Given the description of an element on the screen output the (x, y) to click on. 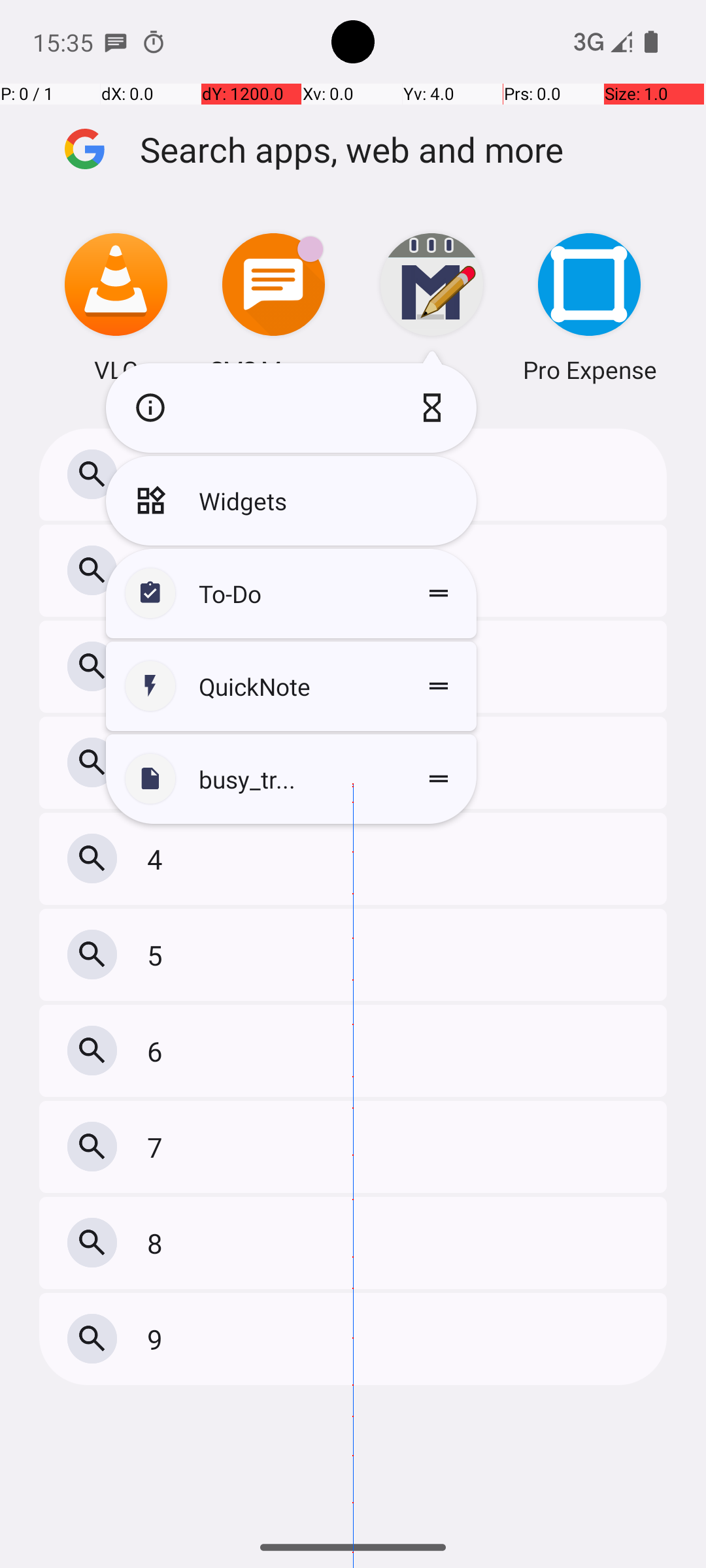
Pause app Element type: android.widget.ImageView (435, 407)
busy_tr... Element type: android.widget.TextView (290, 778)
Widgets Element type: android.widget.TextView (290, 500)
SMS Messenger notification: Freya Hernandez Element type: android.widget.ImageView (115, 41)
